Given the description of an element on the screen output the (x, y) to click on. 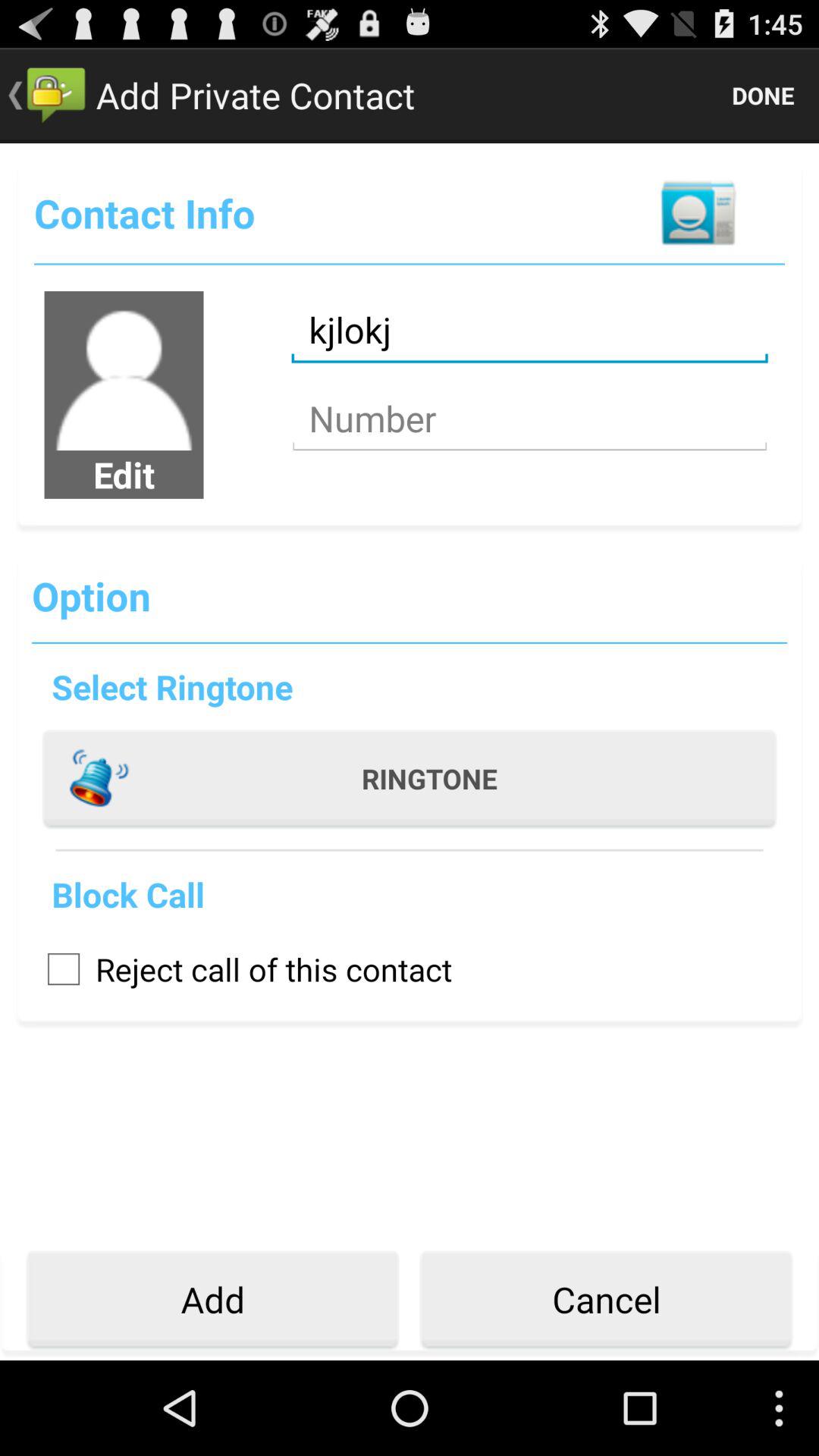
choose app to the right of the add private contact icon (763, 95)
